Given the description of an element on the screen output the (x, y) to click on. 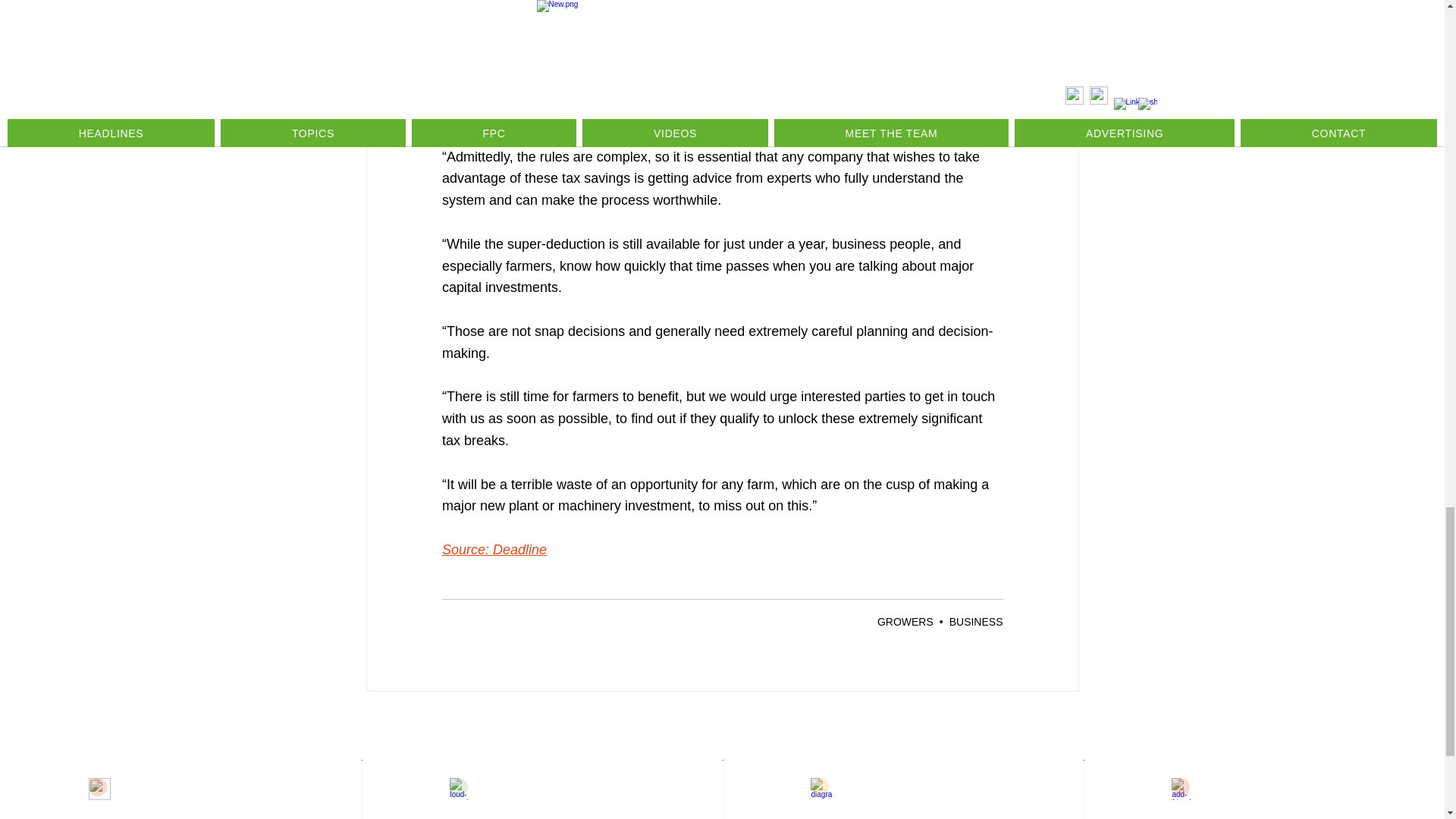
partnership.png (99, 789)
partnership.png (821, 789)
partnership.png (1182, 789)
partnership.png (460, 789)
GROWERS (905, 621)
Source: Deadline (493, 549)
BUSINESS (976, 621)
